Given the description of an element on the screen output the (x, y) to click on. 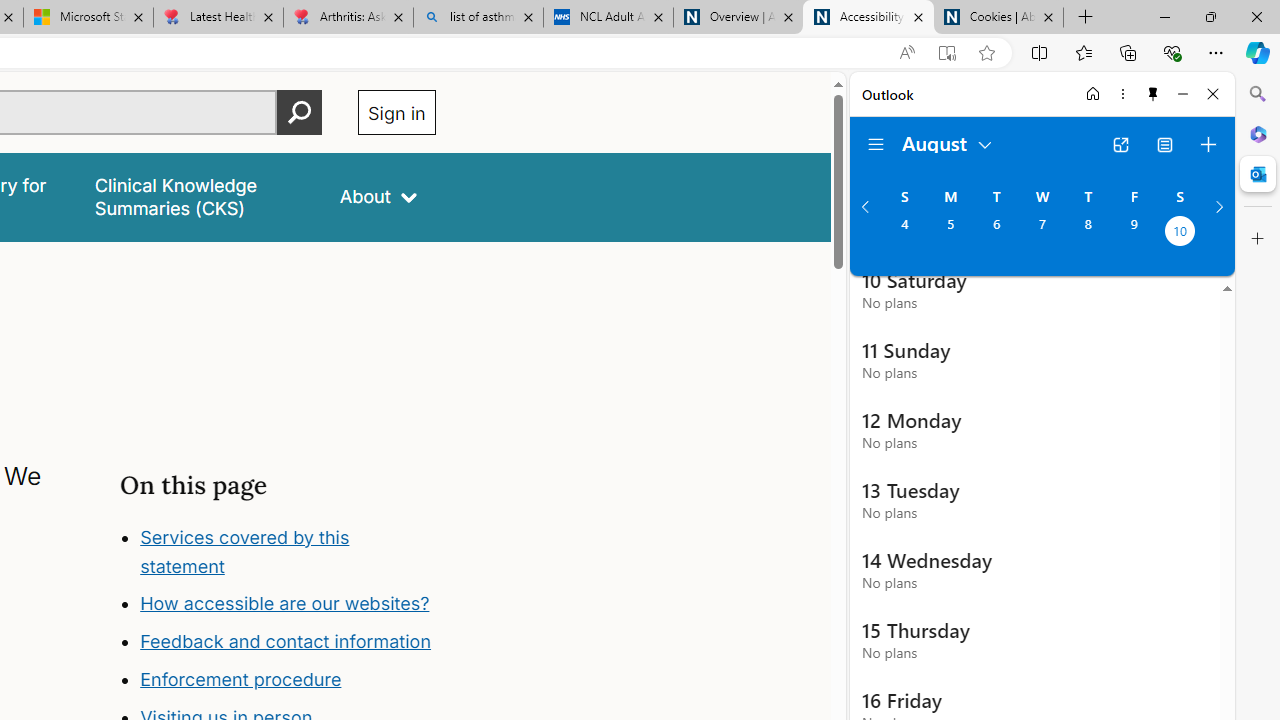
Accessibility | NICE (868, 17)
Wednesday, August 7, 2024.  (1042, 233)
Tuesday, August 6, 2024.  (996, 233)
Sunday, August 4, 2024.  (904, 233)
Services covered by this statement (287, 551)
Services covered by this statement (244, 551)
Feedback and contact information (287, 642)
Enforcement procedure (287, 680)
